Given the description of an element on the screen output the (x, y) to click on. 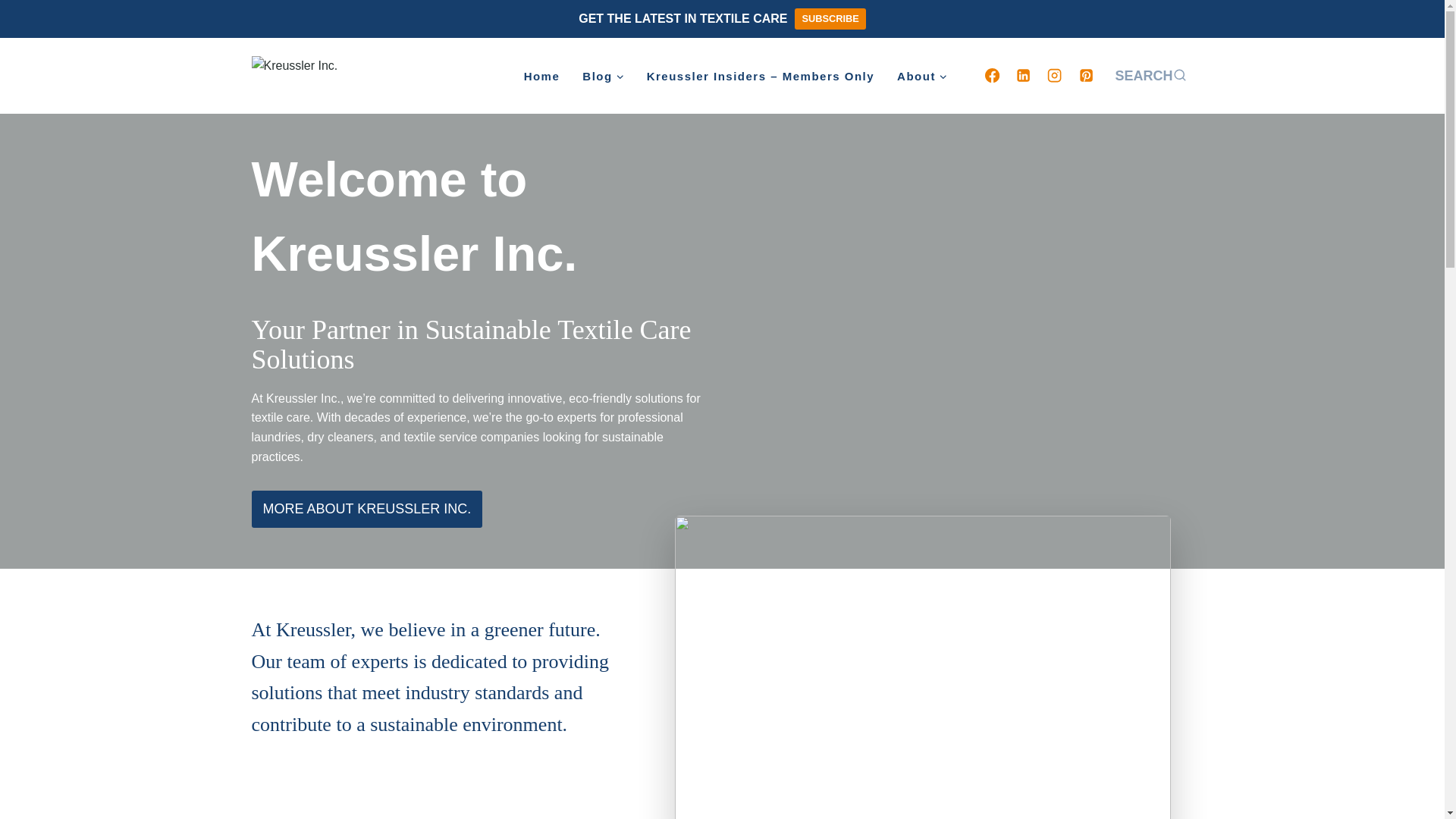
SUBSCRIBE (829, 18)
Home (542, 75)
SEARCH (1150, 76)
About (921, 75)
Blog (602, 75)
MORE ABOUT KREUSSLER INC. (367, 508)
